Given the description of an element on the screen output the (x, y) to click on. 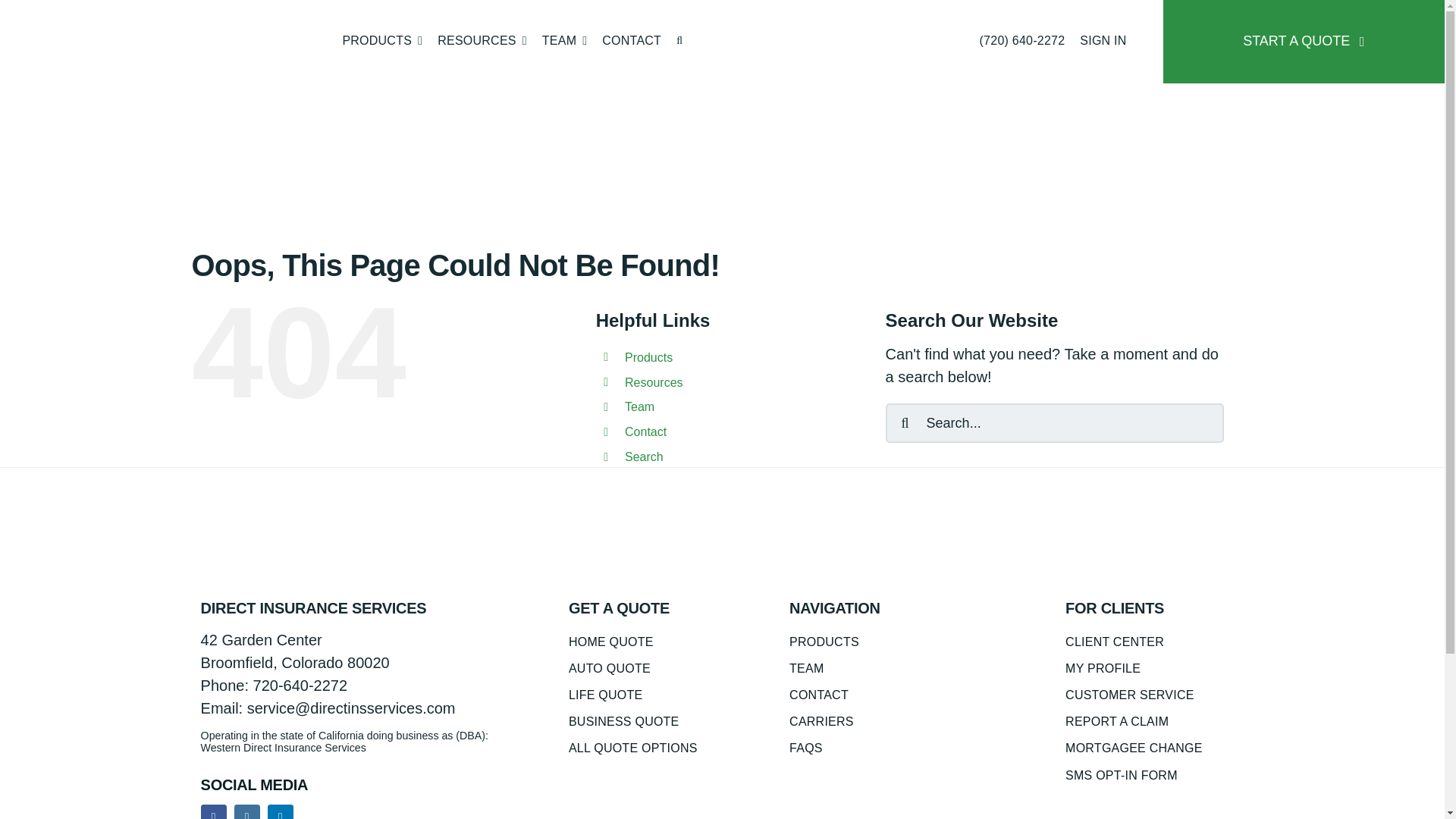
Products (382, 41)
RESOURCES (482, 41)
PRODUCTS (382, 41)
